Given the description of an element on the screen output the (x, y) to click on. 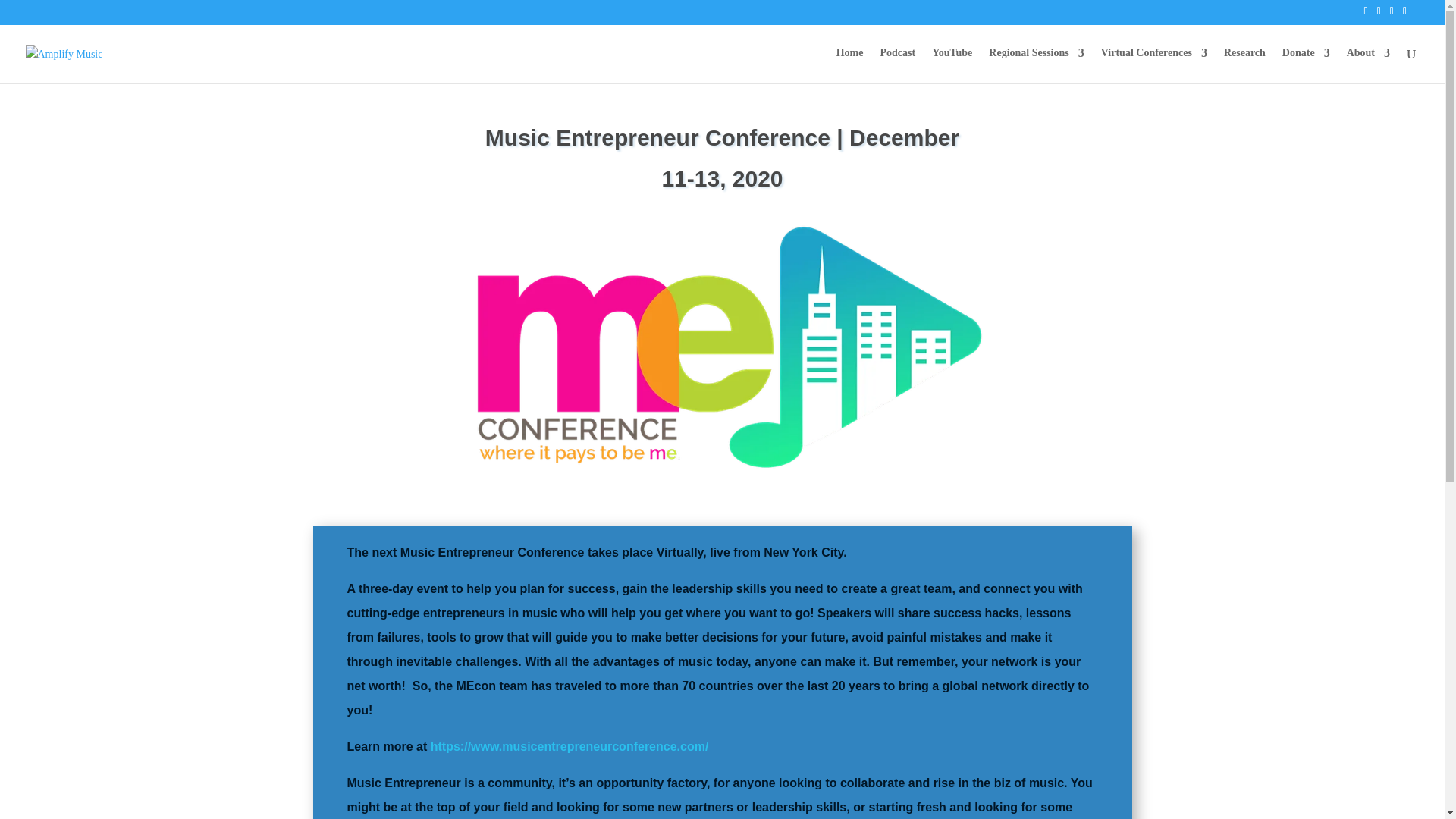
Mastodon (21, 8)
Regional Sessions (1035, 65)
Home (849, 65)
Podcast (897, 65)
YouTube (951, 65)
Virtual Conferences (1153, 65)
